Given the description of an element on the screen output the (x, y) to click on. 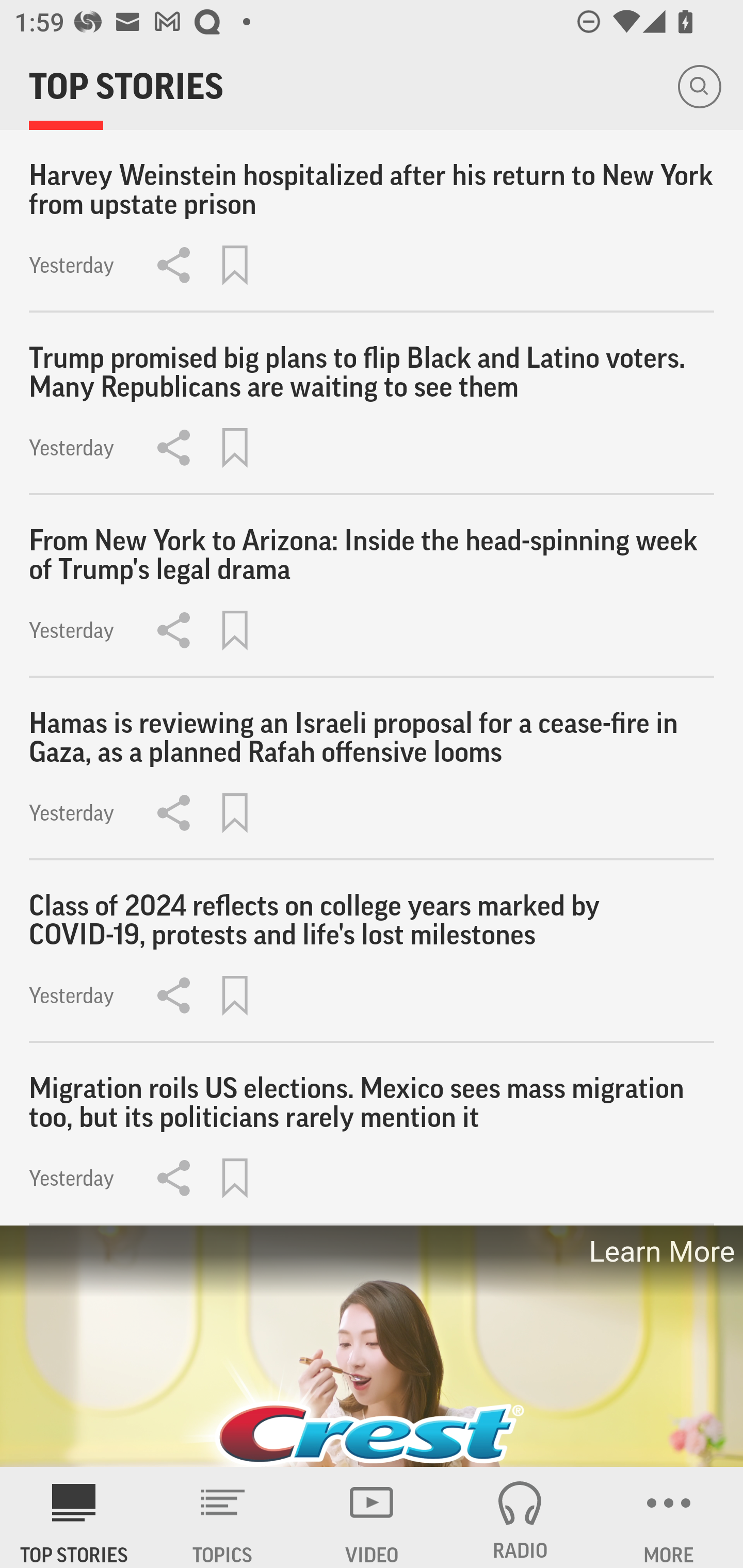
toggle controls (371, 1346)
AP News TOP STORIES (74, 1517)
TOPICS (222, 1517)
VIDEO (371, 1517)
RADIO (519, 1517)
MORE (668, 1517)
